Given the description of an element on the screen output the (x, y) to click on. 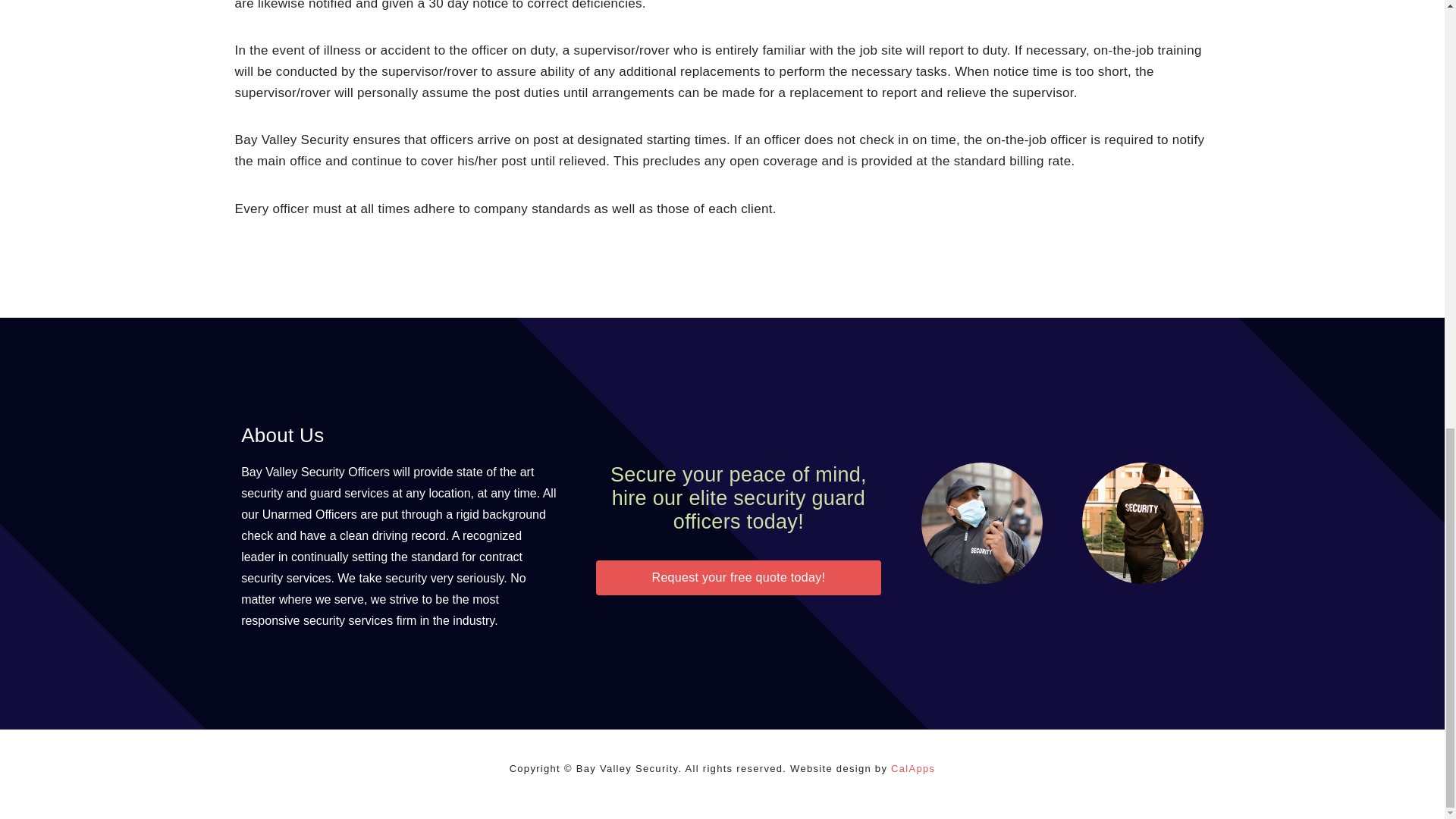
CalApps (912, 767)
Request your free quote today! (737, 577)
